Given the description of an element on the screen output the (x, y) to click on. 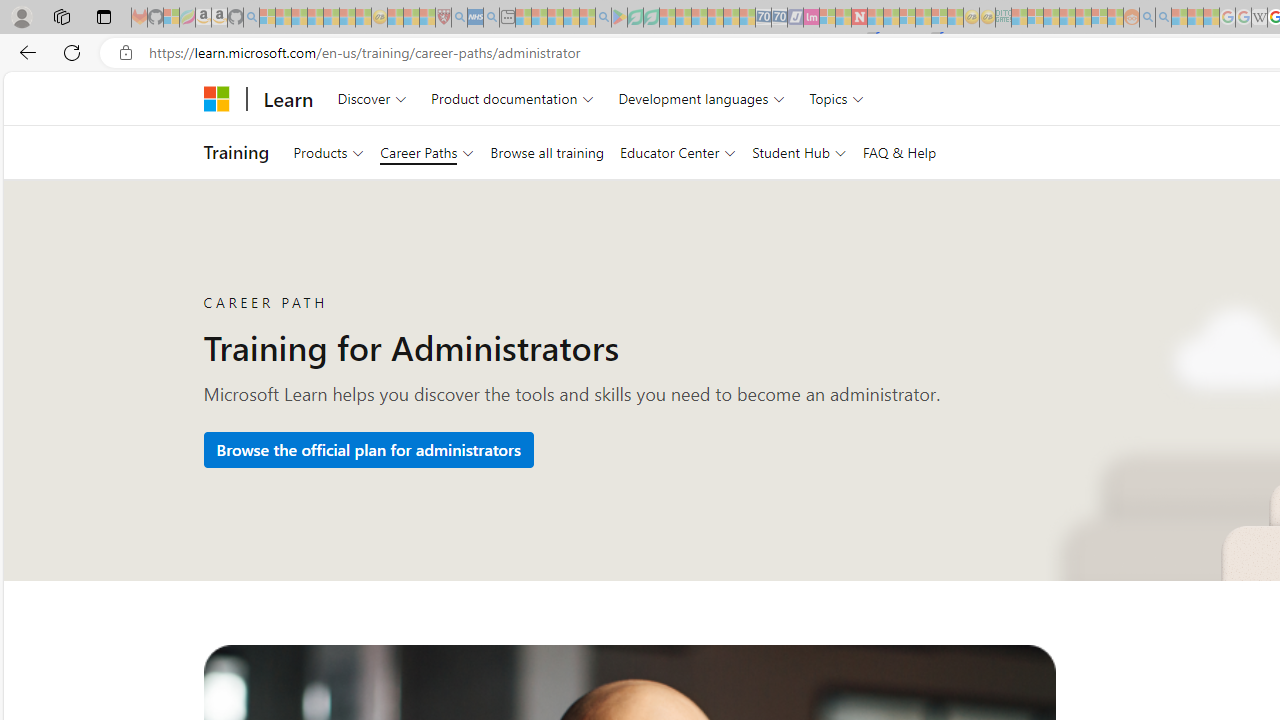
utah sues federal government - Search - Sleeping (491, 17)
Educator Center (677, 152)
Target page - Wikipedia - Sleeping (1259, 17)
